Given the description of an element on the screen output the (x, y) to click on. 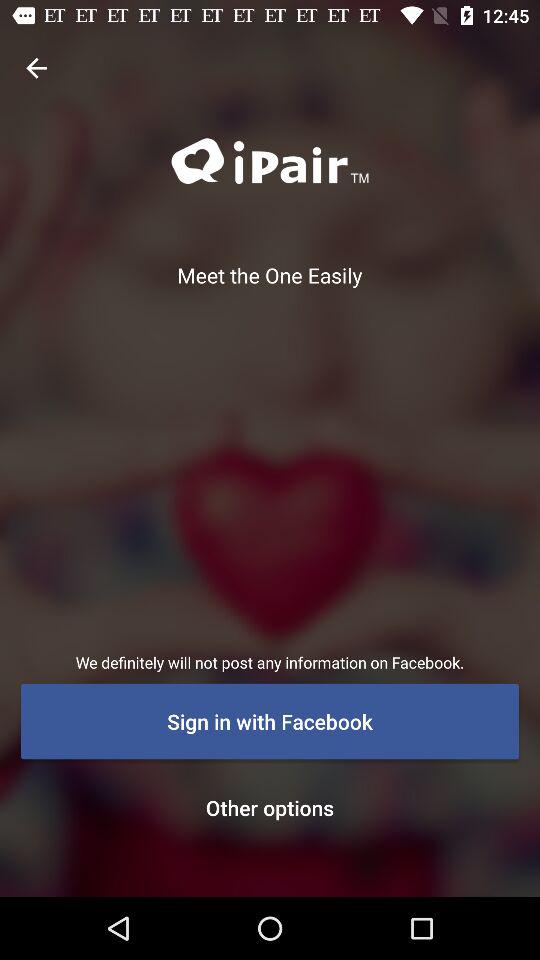
flip to sign in with (270, 721)
